Given the description of an element on the screen output the (x, y) to click on. 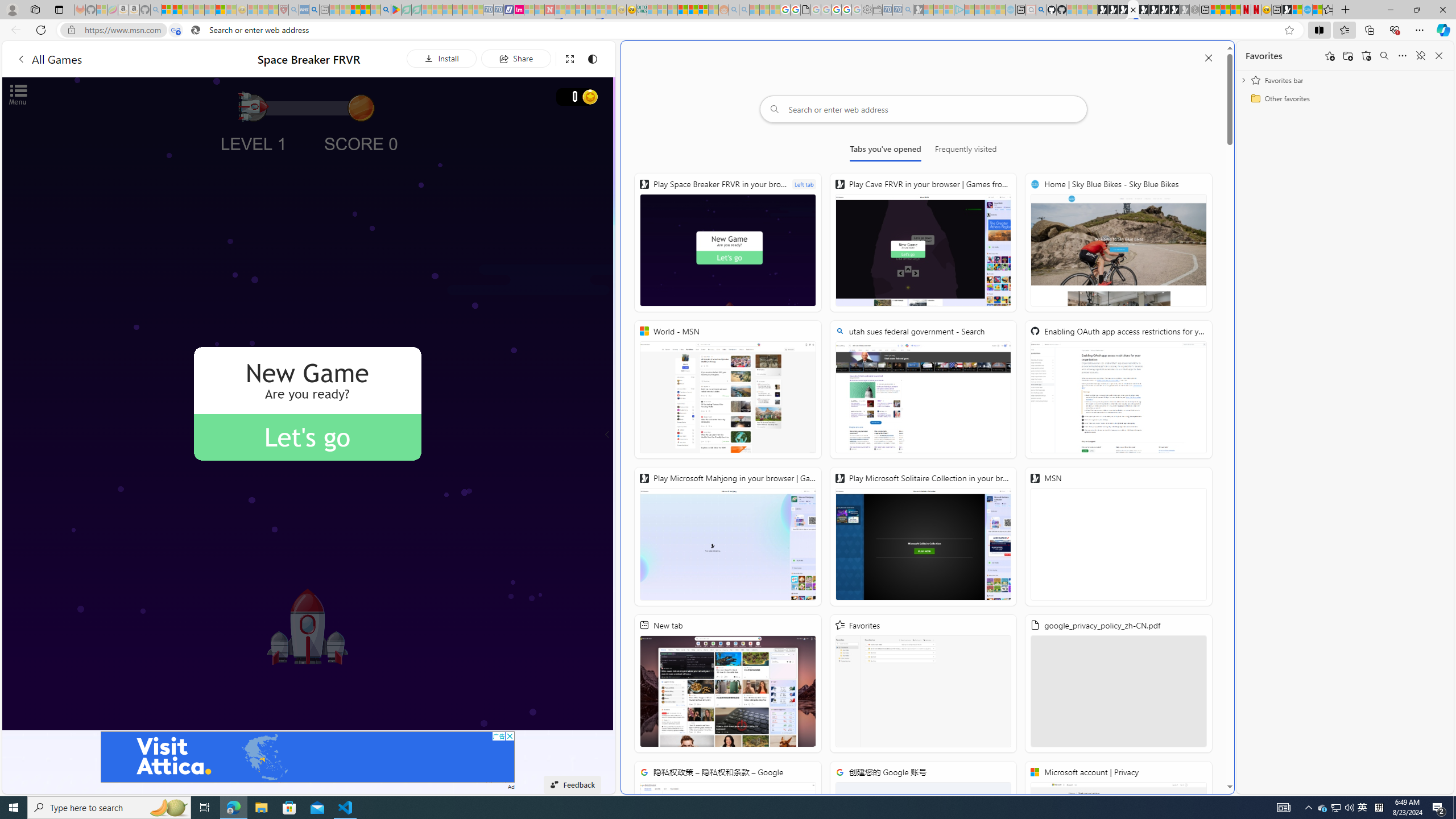
All Games (113, 58)
Close favorites (1439, 55)
Share (515, 58)
Wallet - Sleeping (876, 9)
